Given the description of an element on the screen output the (x, y) to click on. 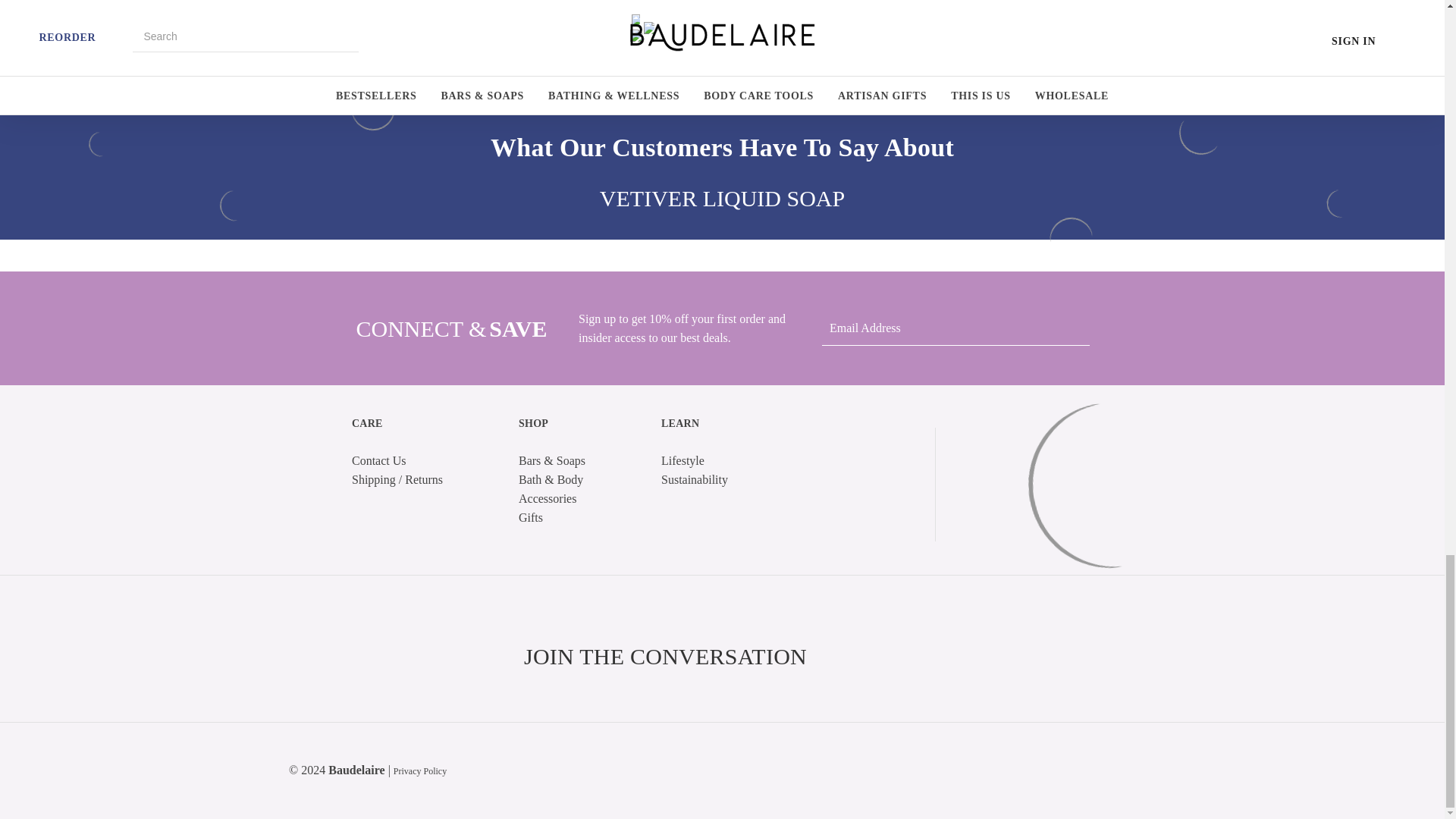
Add to Cart (644, 13)
Add to Cart (337, 13)
Add to Cart (491, 13)
